Given the description of an element on the screen output the (x, y) to click on. 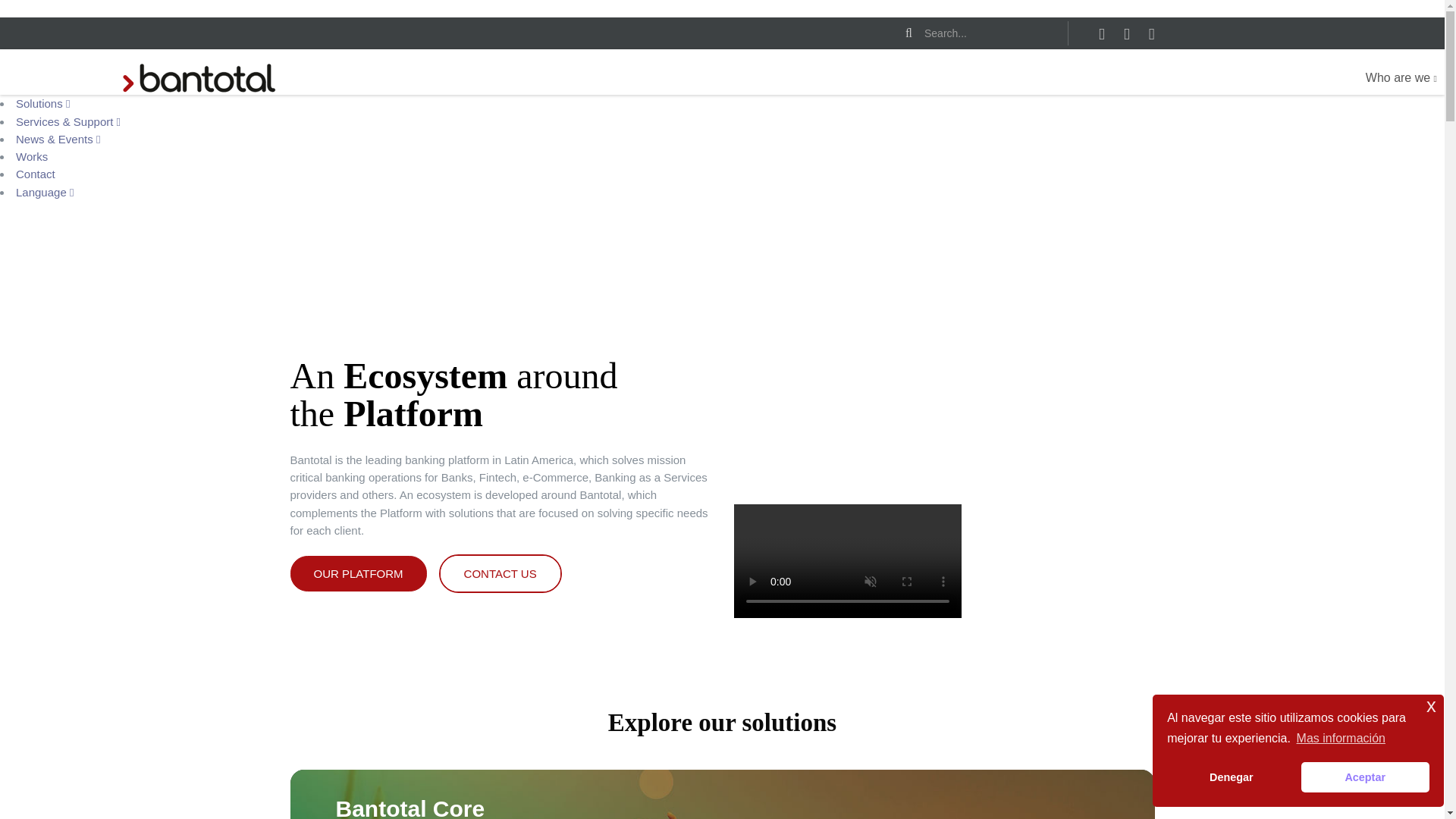
Language (45, 191)
Works (32, 155)
Contact (35, 173)
Who are we (1401, 78)
Solutions (42, 103)
